Given the description of an element on the screen output the (x, y) to click on. 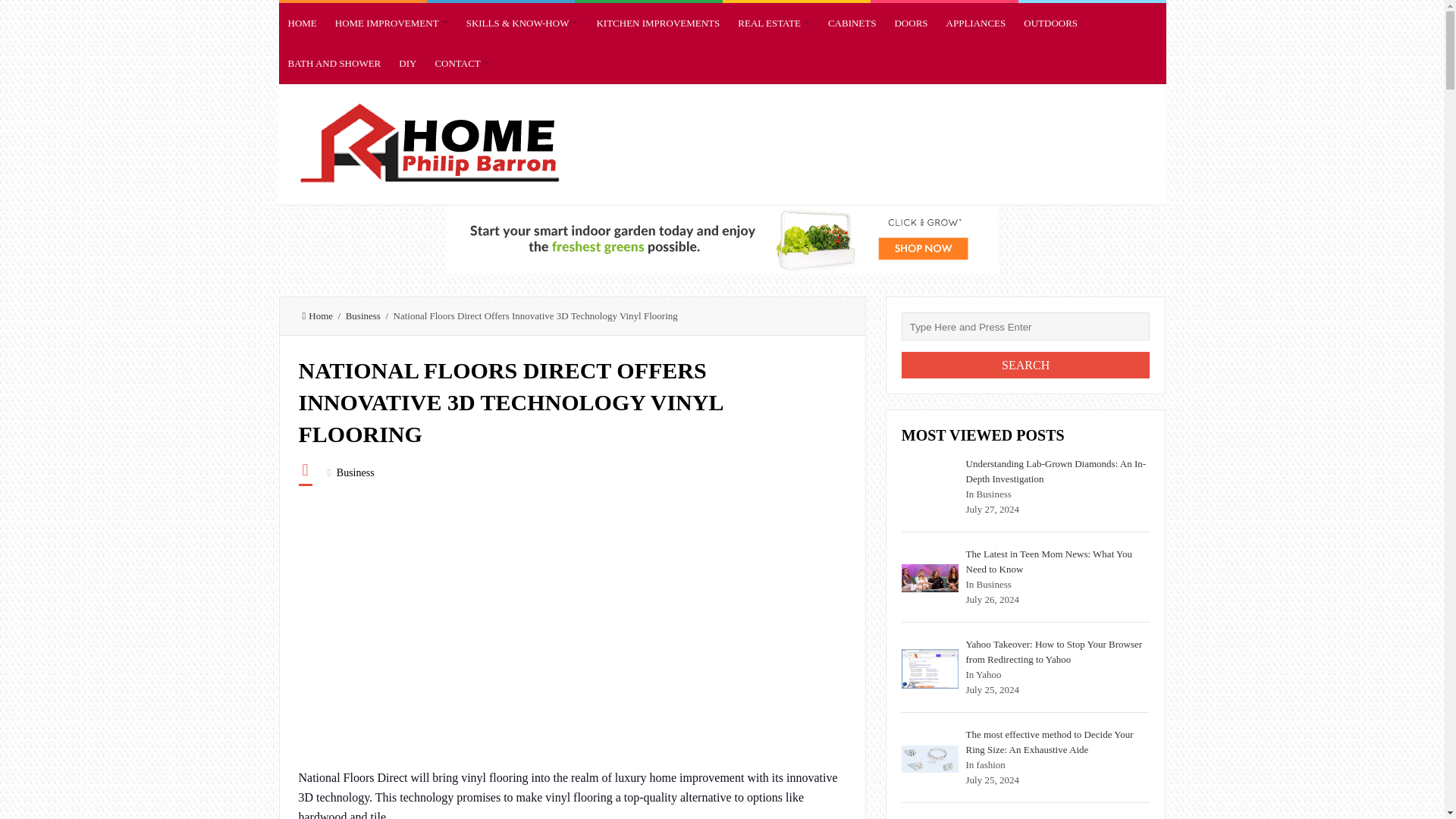
Business (355, 472)
DOORS (910, 23)
BATH AND SHOWER (334, 63)
Search (1025, 365)
CONTACT (461, 63)
The Latest in Teen Mom News: What You Need to Know (1049, 560)
Search (1025, 365)
CABINETS (851, 23)
APPLIANCES (975, 23)
REAL ESTATE (773, 23)
Understanding Lab-Grown Diamonds: An In-Depth Investigation (1056, 470)
The Latest in Teen Mom News: What You Need to Know (929, 577)
Home (317, 315)
HOME IMPROVEMENT (391, 23)
